Given the description of an element on the screen output the (x, y) to click on. 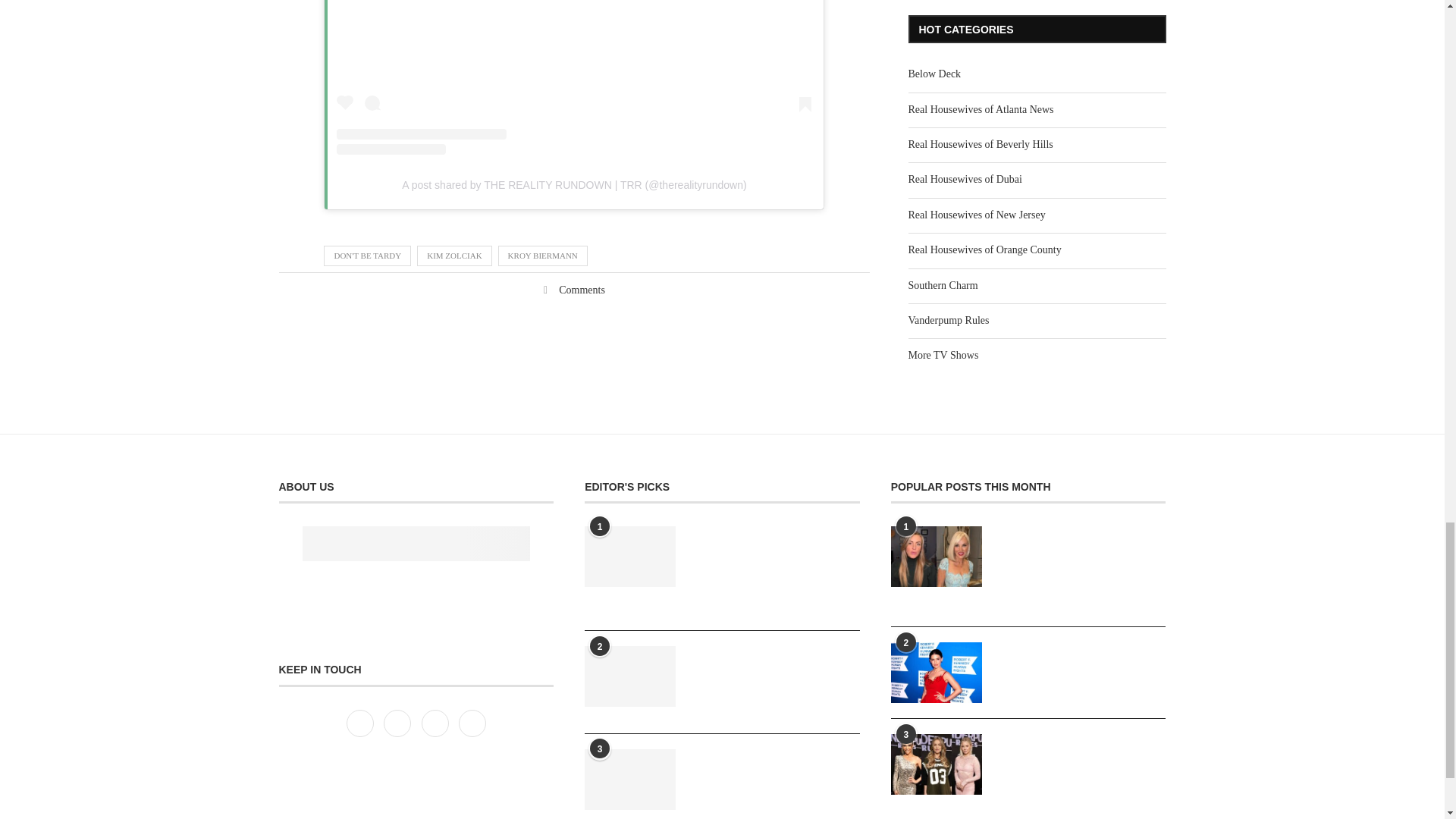
KIM ZOLCIAK (454, 255)
DON'T BE TARDY (366, 255)
KROY BIERMANN (542, 255)
View this post on Instagram (573, 77)
